Given the description of an element on the screen output the (x, y) to click on. 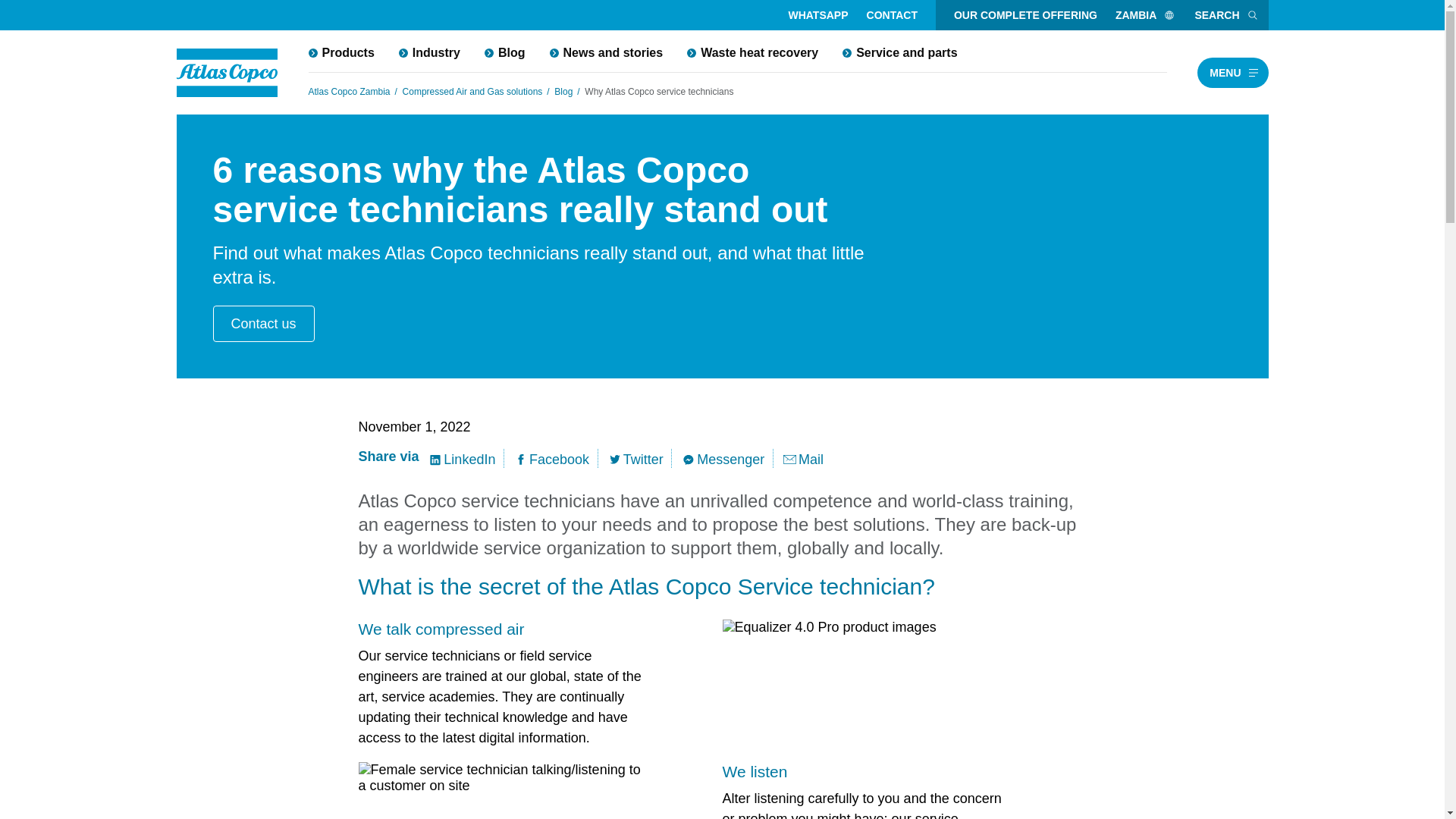
AtlasCopco Logo (227, 72)
Atlas Copco Zambia (348, 91)
Industry (429, 52)
Blog (563, 91)
Products (340, 52)
Blog (504, 52)
Waste heat recovery (752, 52)
SEARCH (1226, 15)
CONTACT (891, 15)
OUR COMPLETE OFFERING (1025, 15)
MENU (1232, 72)
ZAMBIA (1145, 15)
News and stories (606, 52)
WHATSAPP (817, 15)
Compressed Air and Gas solutions (473, 91)
